Given the description of an element on the screen output the (x, y) to click on. 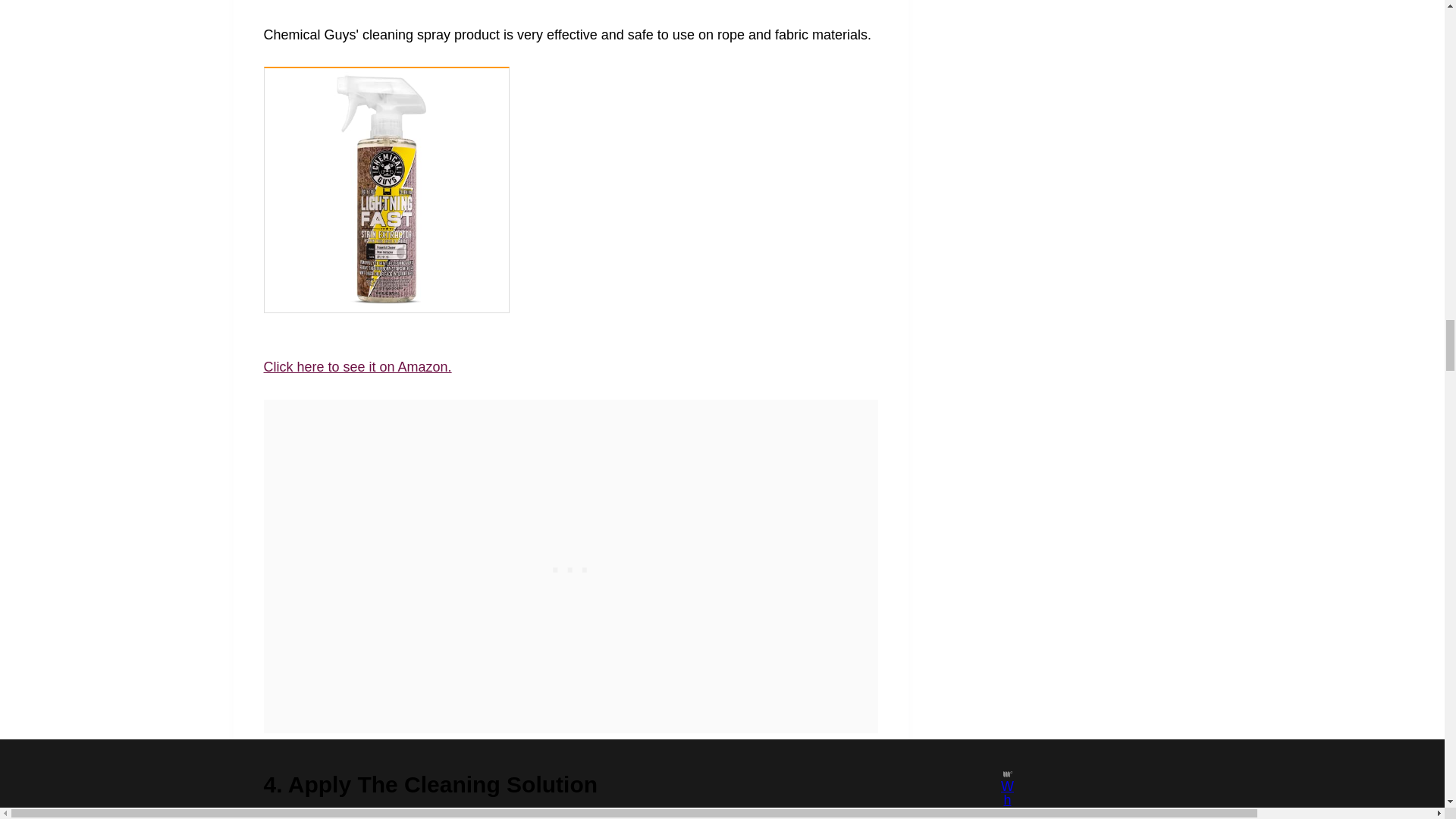
Click here to see it on Amazon. (357, 366)
